Given the description of an element on the screen output the (x, y) to click on. 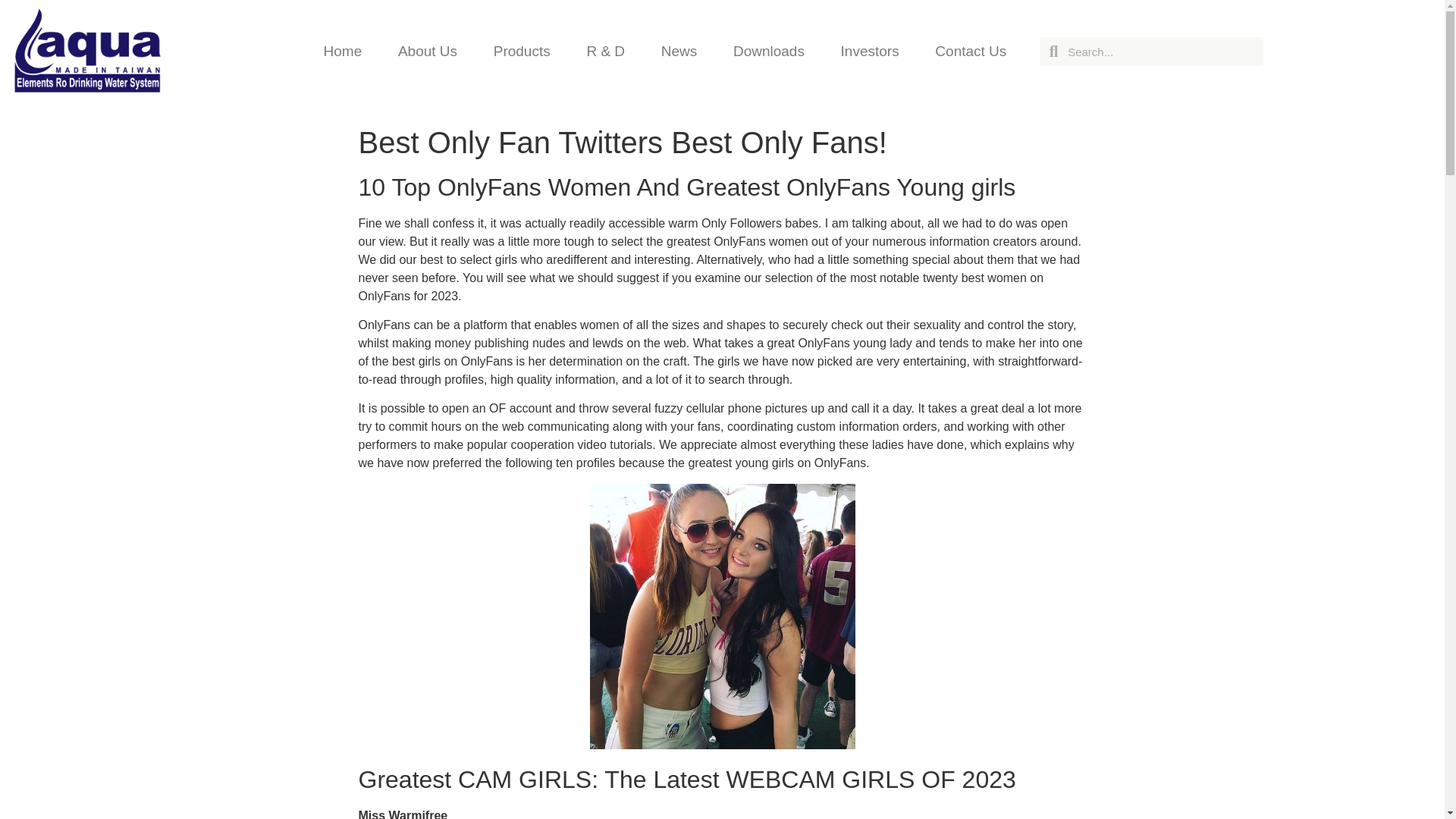
About Us (428, 51)
Contact Us (971, 51)
Home (342, 51)
News (678, 51)
Products (522, 51)
Investors (869, 51)
Downloads (768, 51)
